Given the description of an element on the screen output the (x, y) to click on. 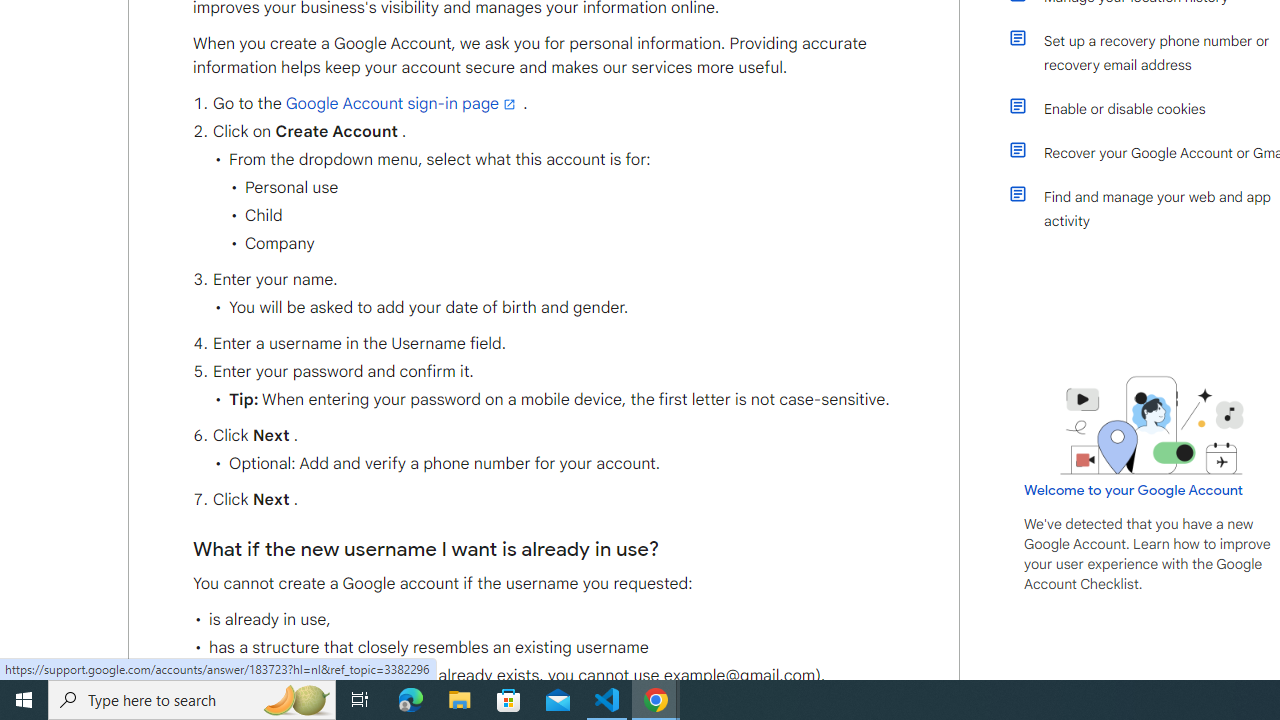
Google Account sign-in page (402, 103)
Welcome to your Google Account (1134, 489)
Learning Center home page image (1152, 425)
